Given the description of an element on the screen output the (x, y) to click on. 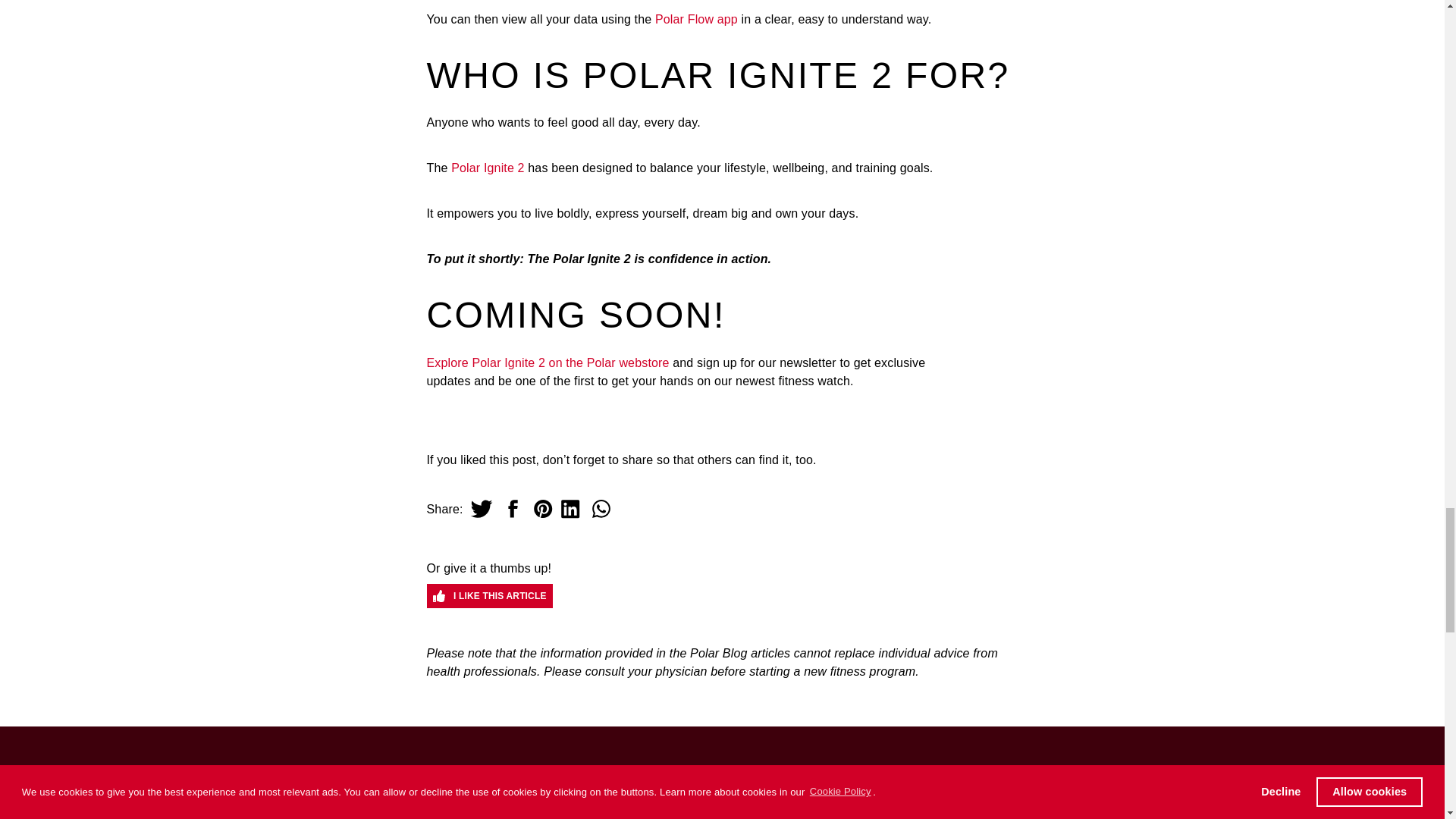
Polar Flow app (696, 19)
Polar Ignite 2 (487, 167)
I LIKE THIS ARTICLE (488, 595)
Explore Polar Ignite 2 on the Polar webstore (547, 362)
